Given the description of an element on the screen output the (x, y) to click on. 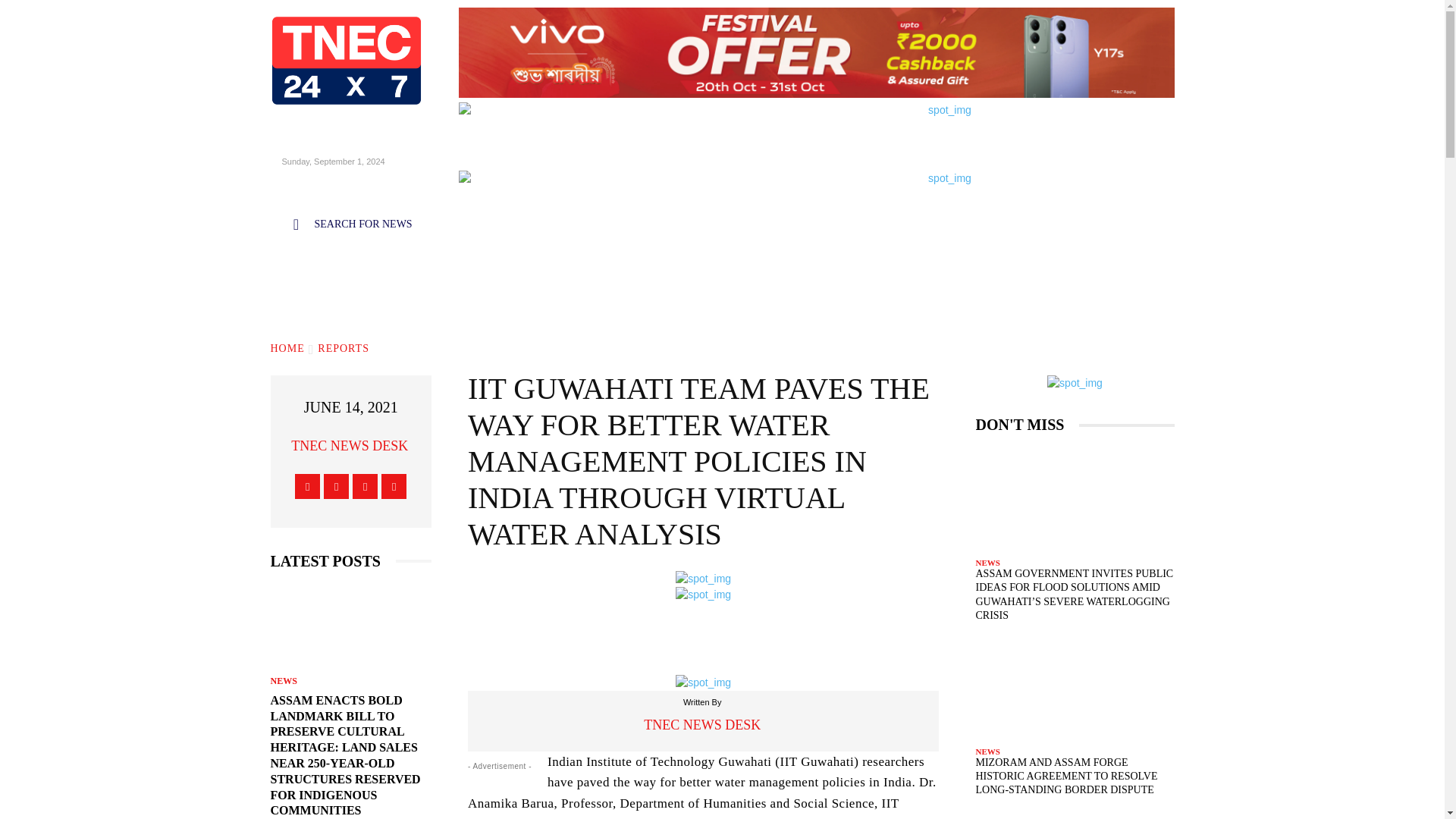
SEARCH FOR NEWS (345, 224)
Facebook (307, 486)
View all posts in Reports (343, 348)
